Given the description of an element on the screen output the (x, y) to click on. 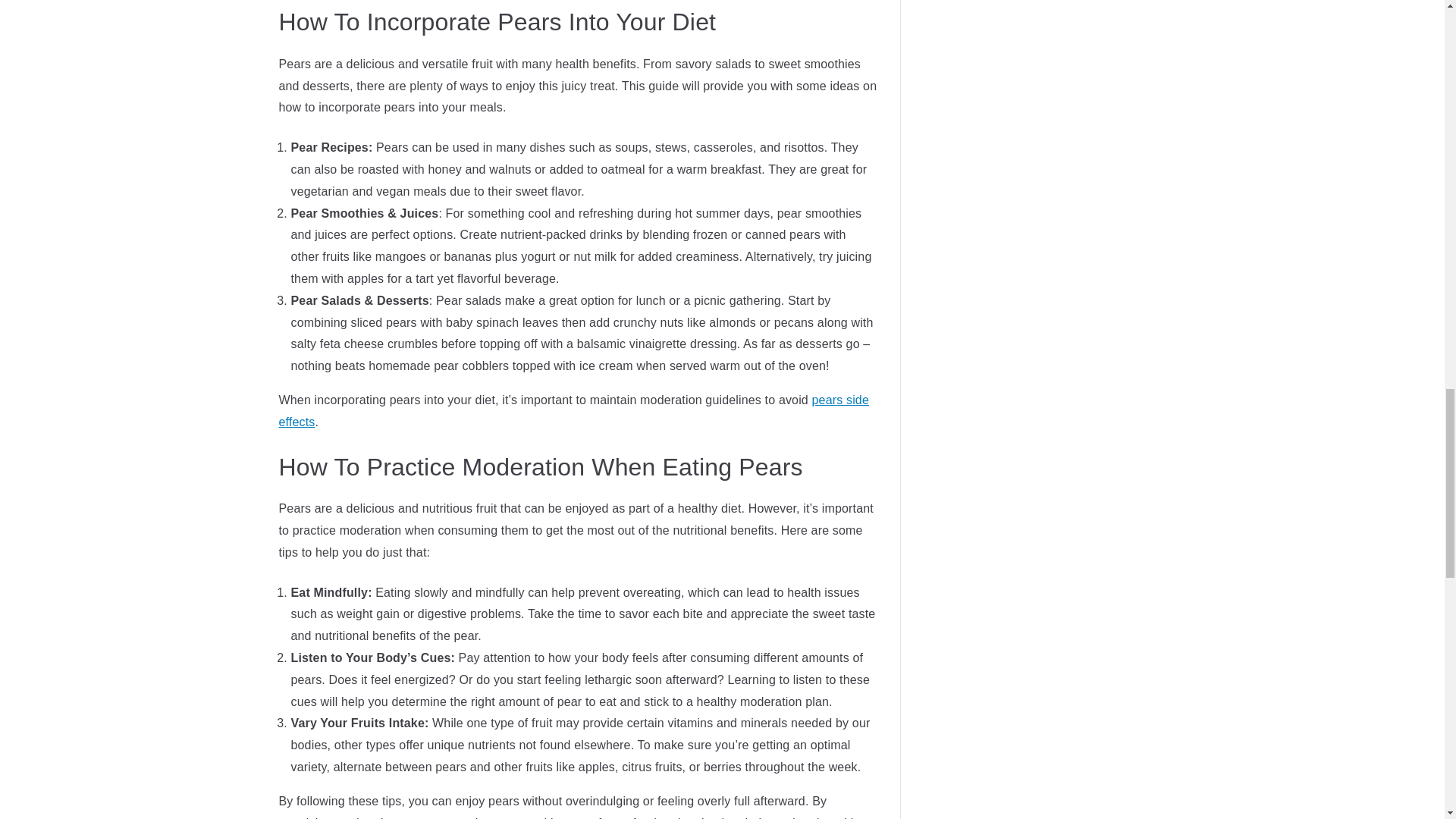
pears side effects (574, 410)
